Given the description of an element on the screen output the (x, y) to click on. 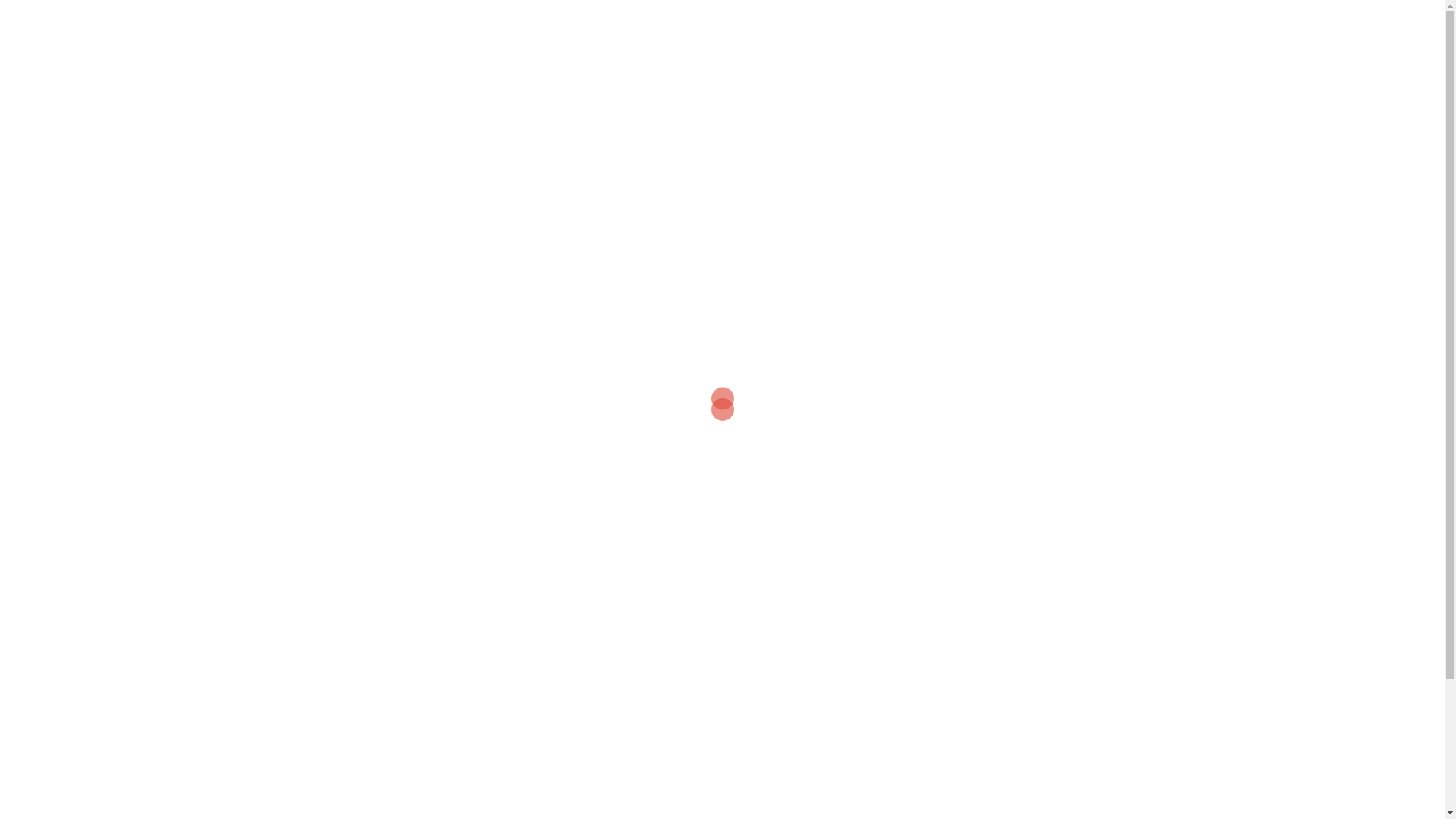
RUTES Element type: text (999, 45)
info@taxismontornes.com Element type: text (471, 487)
VIDEOS Element type: text (1124, 45)
http://www.taxismontornes.com/ Element type: text (471, 505)
INICI Element type: text (879, 45)
IMATGES Element type: text (1061, 45)
http://rodalies.gencat.cat Element type: text (723, 238)
TURISME Element type: text (937, 45)
www.sagales.com Element type: text (452, 385)
